Given the description of an element on the screen output the (x, y) to click on. 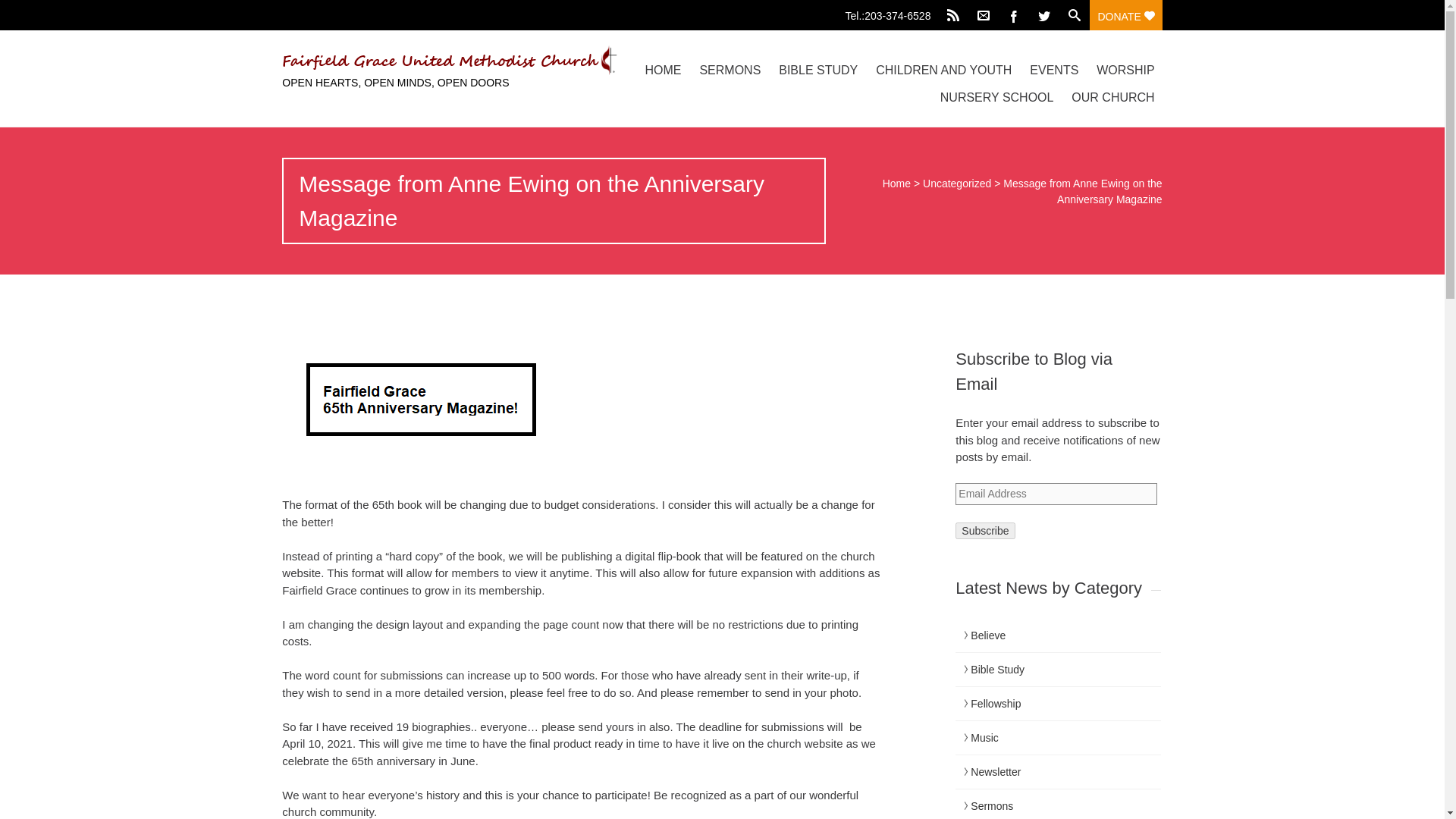
OUR CHURCH (1112, 97)
CHILDREN AND YOUTH (943, 70)
Tel.:203-374-6528 (892, 12)
NURSERY SCHOOL (997, 97)
Home (896, 183)
Facebook (1013, 15)
BIBLE STUDY (817, 70)
SERMONS (729, 70)
Fairfield Grace - Open Hearts, Open Minds, Open Doors (413, 60)
DONATE (1125, 15)
WORSHIP (1125, 70)
Twitter (1044, 15)
Uncategorized (957, 183)
Search (20, 11)
HOME (662, 70)
